Given the description of an element on the screen output the (x, y) to click on. 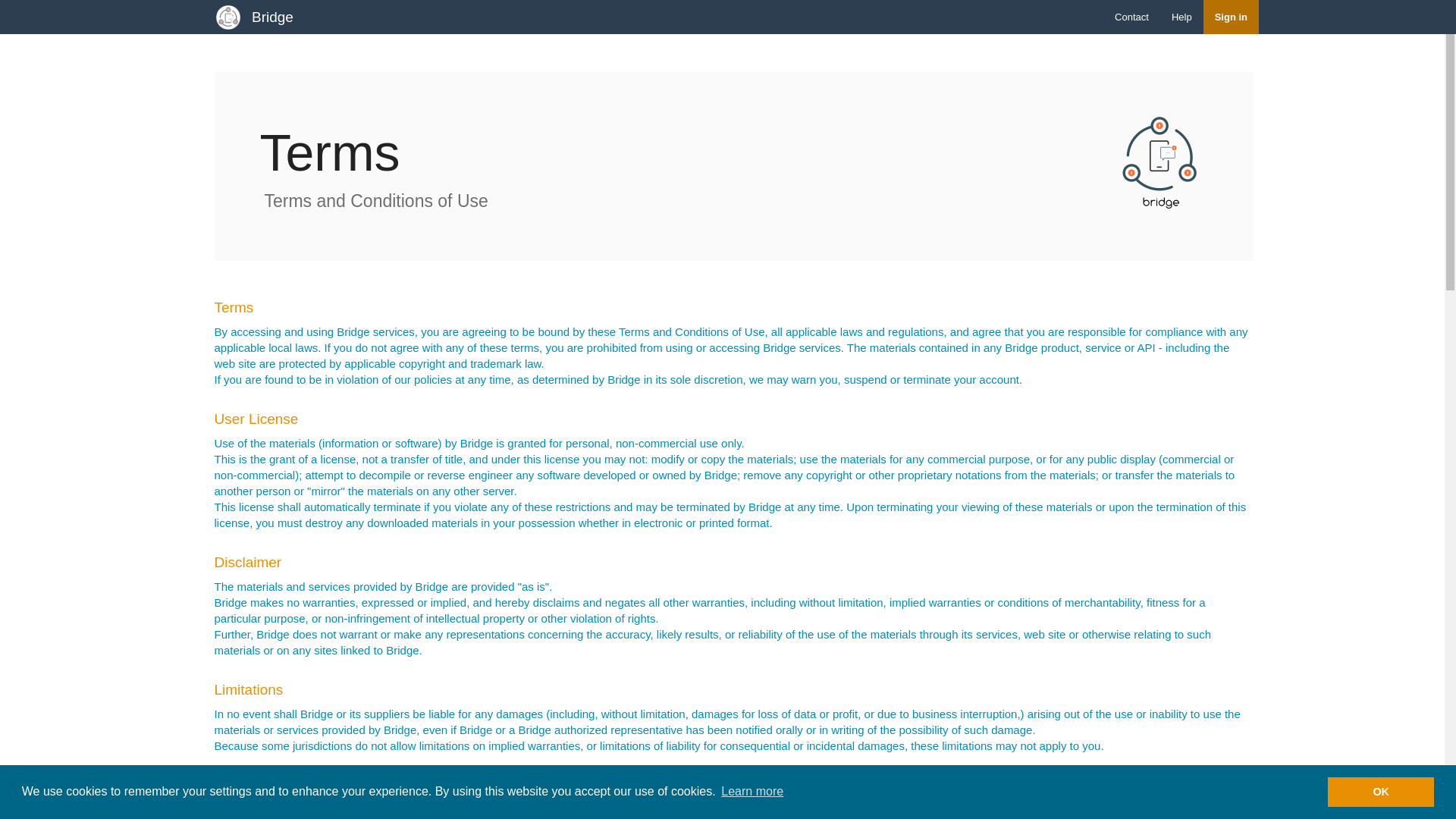
Sign in (1231, 17)
Contact (1131, 17)
Learn more (752, 791)
OK (1380, 791)
Contact us (1131, 17)
Bridge (272, 17)
Help (1182, 17)
